Given the description of an element on the screen output the (x, y) to click on. 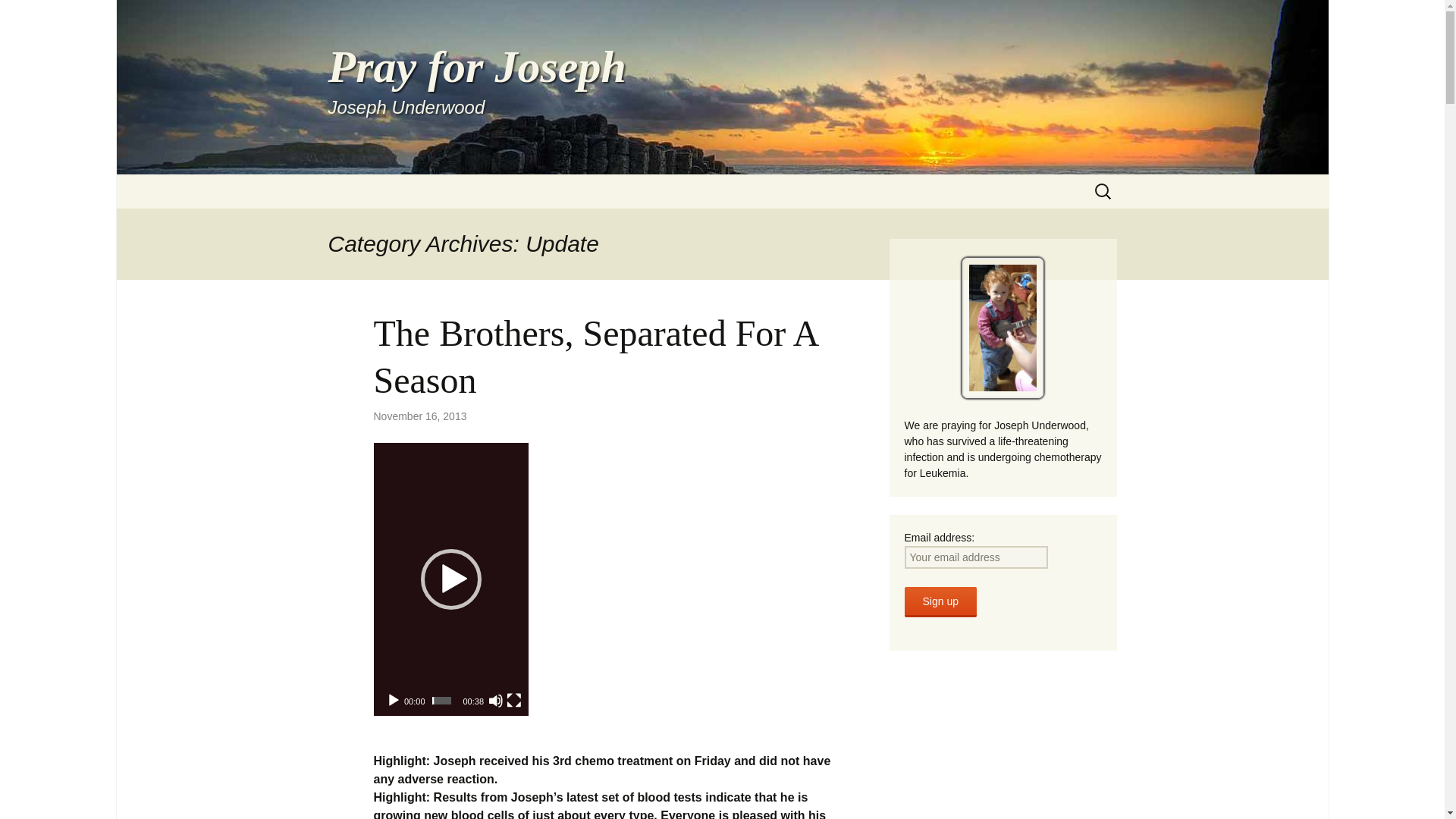
The Brothers, Separated For A Season (594, 356)
Fullscreen (513, 700)
Play (392, 700)
Sign up (418, 416)
Mute (939, 602)
Skip to content (495, 700)
Permalink to The Brothers, Separated For A Season (18, 15)
